Given the description of an element on the screen output the (x, y) to click on. 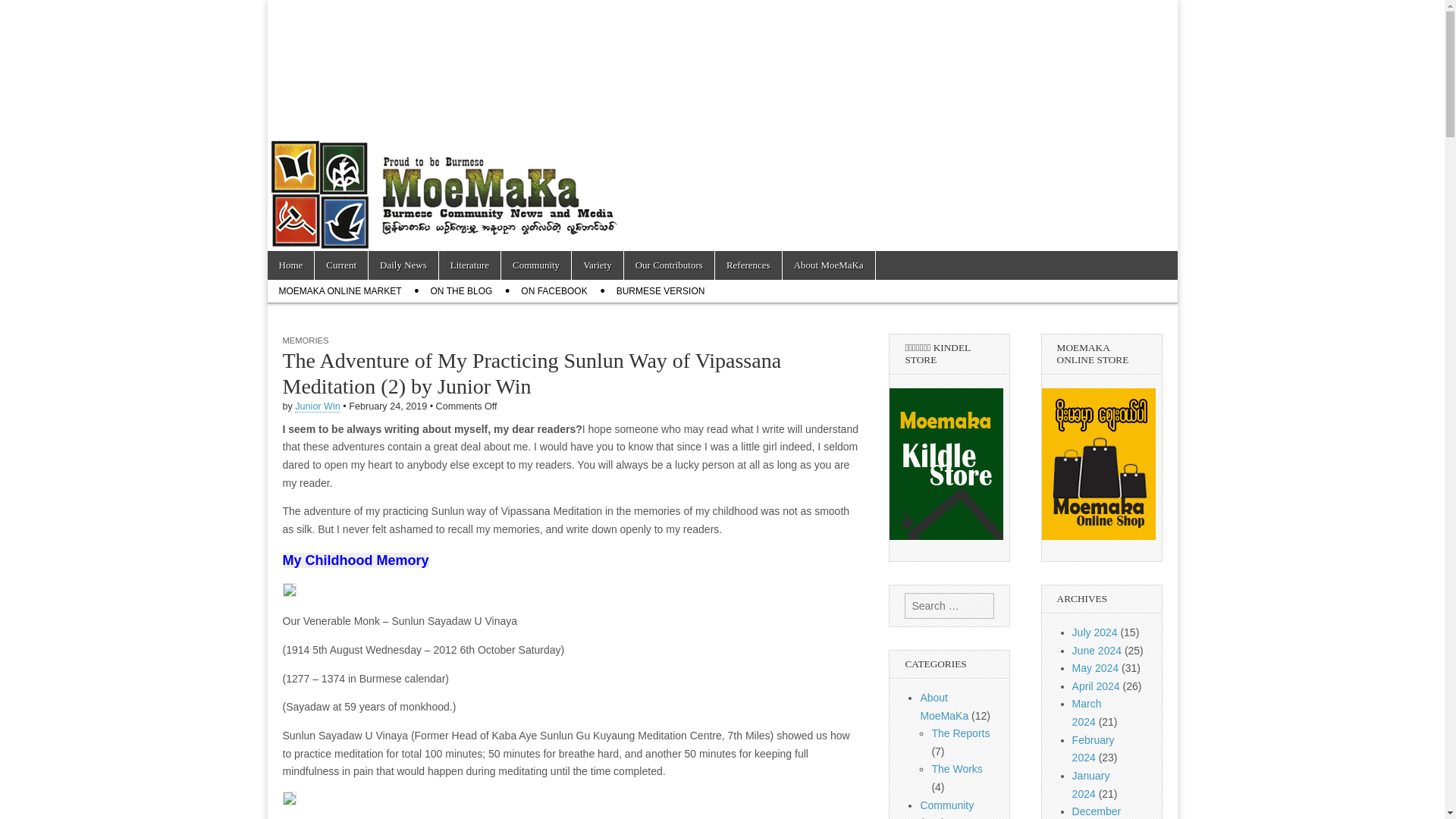
Posts by Junior Win (317, 406)
Daily News (403, 265)
MEMORIES (305, 339)
MoeMaKa in English (360, 58)
Home (290, 265)
ON THE BLOG (461, 291)
ON FACEBOOK (553, 291)
References (747, 265)
About MoeMaKa (829, 265)
The Reports of MoeMaKa (960, 733)
BURMESE VERSION (660, 291)
Literature (469, 265)
